Given the description of an element on the screen output the (x, y) to click on. 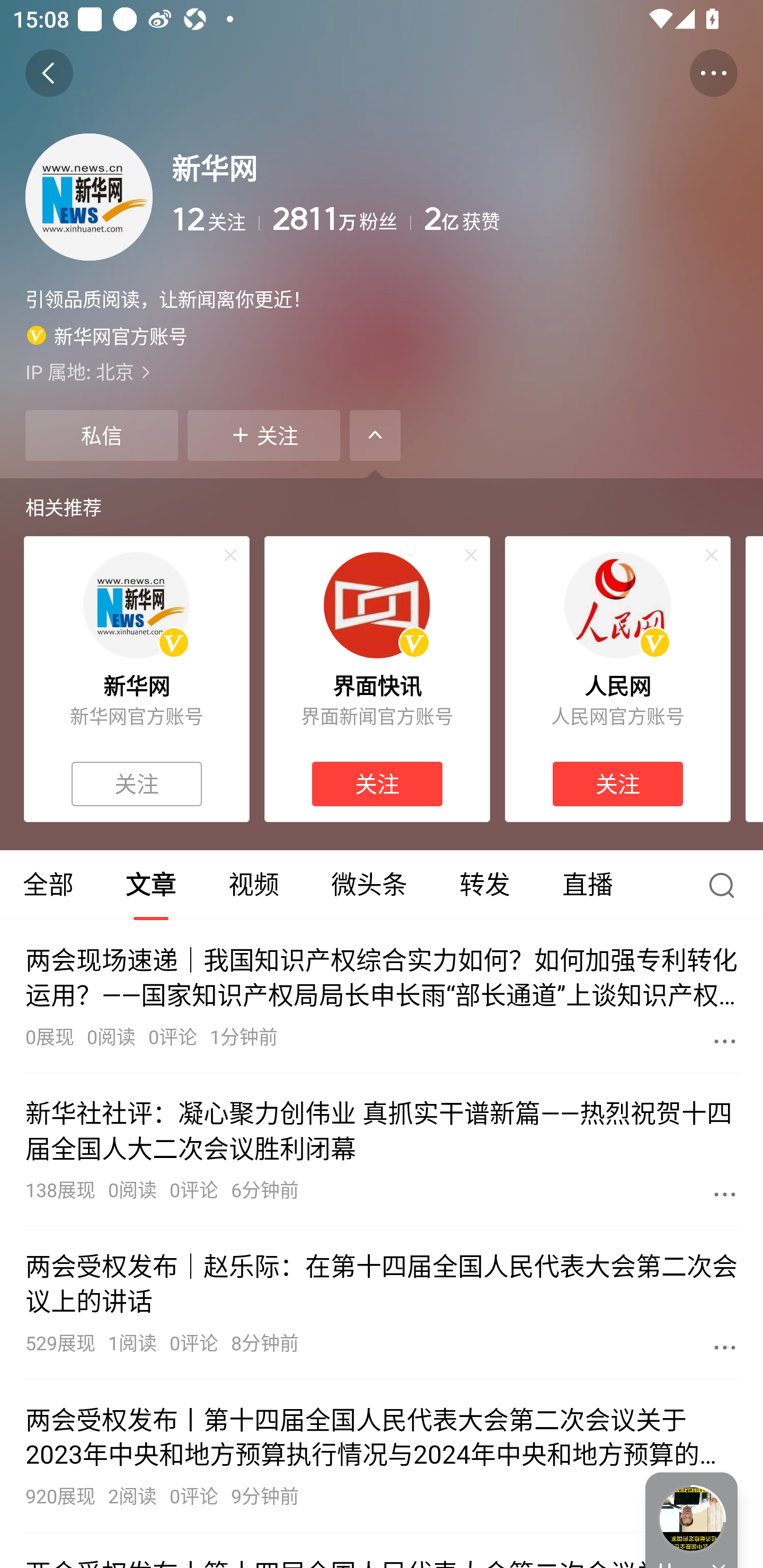
返回 (49, 72)
更多操作 (713, 72)
头像 (88, 196)
12 关注 (215, 219)
2811万 粉丝 (341, 219)
2亿 获赞 (580, 219)
新华网官方账号 (106, 335)
IP 属地: 北京 (381, 371)
私信 (101, 434)
     关注 (263, 434)
     关注 (263, 434)
展开相关推荐，按钮 (374, 434)
新华网头像 新华网 新华网官方账号 关注 关注 不感兴趣 (136, 678)
不感兴趣 (230, 554)
界面快讯头像 界面快讯 界面新闻官方账号 关注 关注 不感兴趣 (376, 678)
不感兴趣 (470, 554)
人民网头像 人民网 人民网官方账号 关注 关注 不感兴趣 (617, 678)
不感兴趣 (711, 554)
新华网头像 (136, 604)
界面快讯头像 (376, 604)
人民网头像 (617, 604)
关注 (136, 783)
关注 (377, 783)
关注 (617, 783)
全部 (49, 884)
文章 (150, 884)
视频 (253, 884)
微头条 (369, 884)
转发 (484, 884)
直播 (587, 884)
搜索 (726, 884)
更多 (724, 1040)
更多 (724, 1193)
更多 (724, 1346)
当前进度 26% (691, 1518)
